Given the description of an element on the screen output the (x, y) to click on. 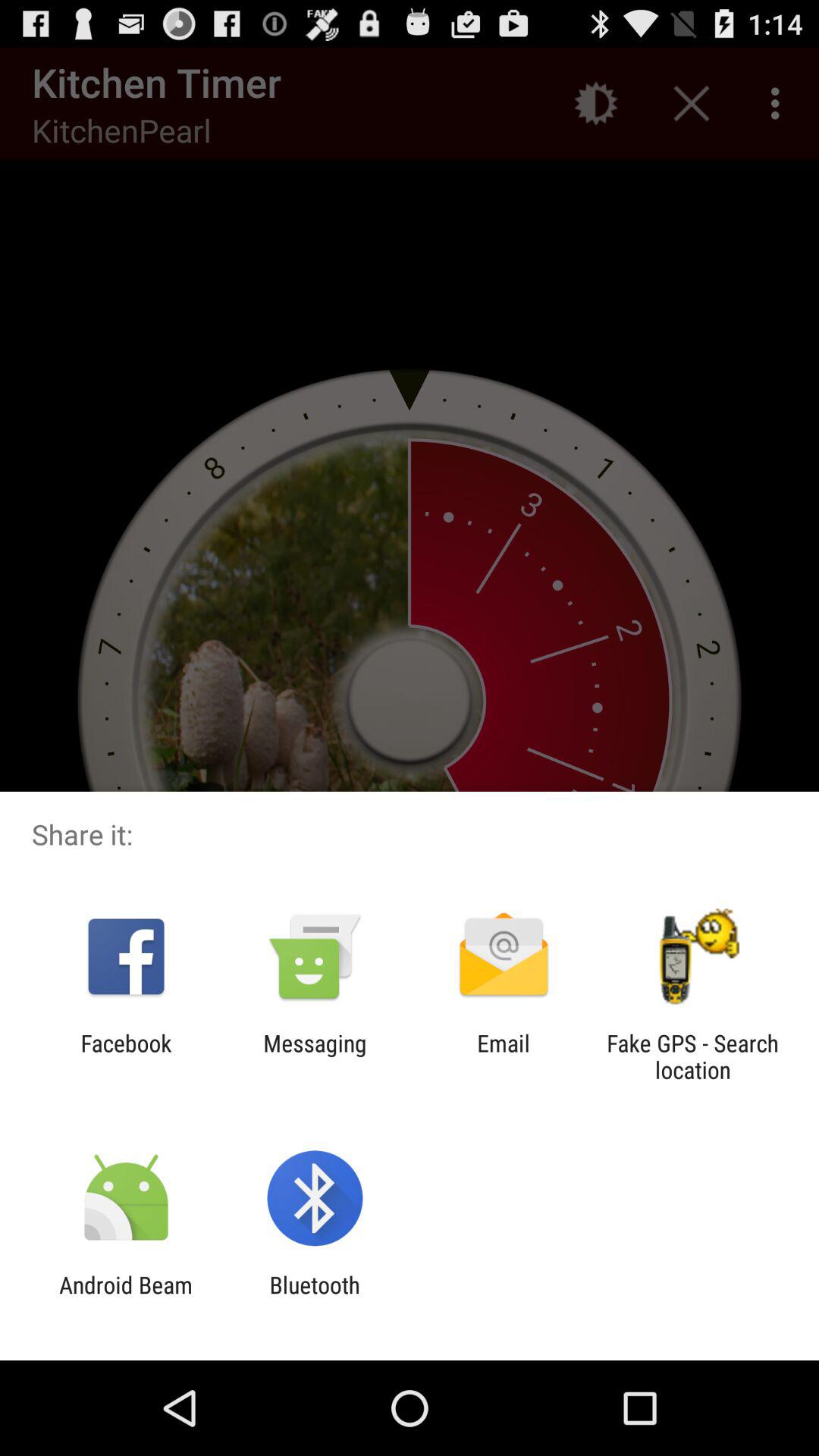
turn off item next to the email app (314, 1056)
